Given the description of an element on the screen output the (x, y) to click on. 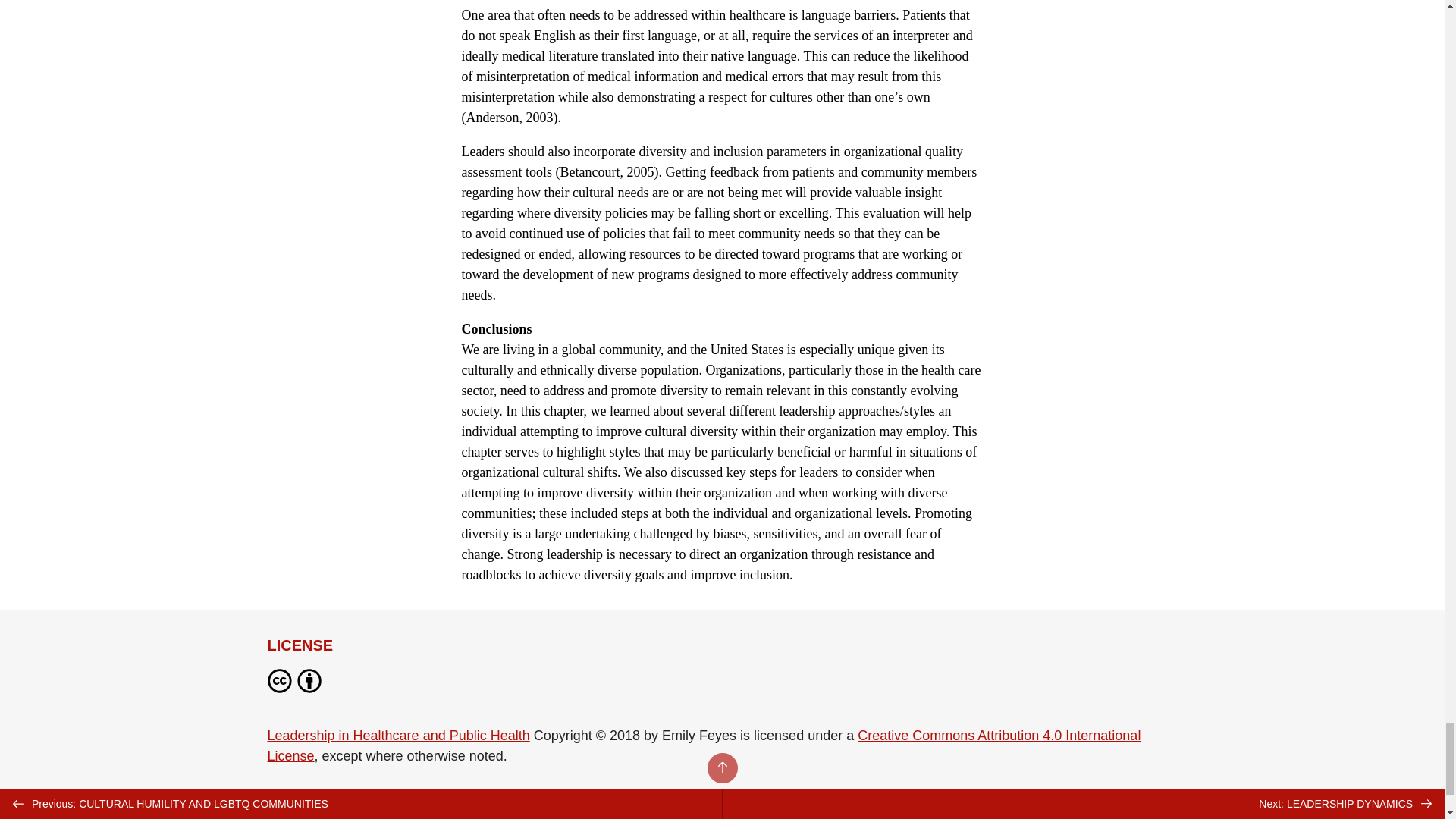
Leadership in Healthcare and Public Health (397, 735)
Creative Commons Attribution 4.0 International License (703, 745)
